Given the description of an element on the screen output the (x, y) to click on. 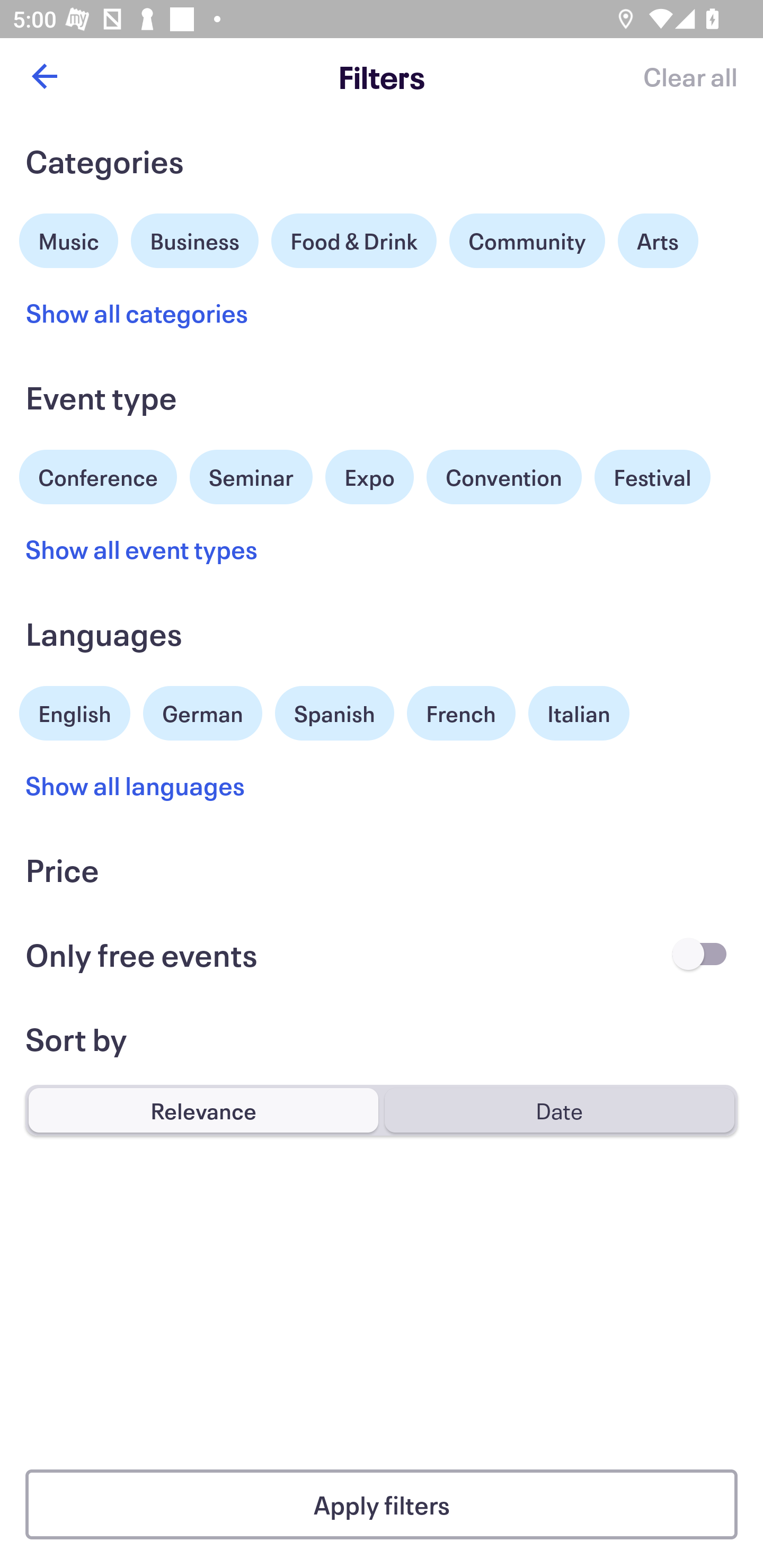
Back button (44, 75)
Clear all (690, 75)
Music (68, 238)
Business (194, 238)
Food & Drink (353, 240)
Community (527, 240)
Arts (658, 240)
Show all categories (136, 312)
Conference (98, 475)
Seminar (250, 477)
Expo (369, 477)
Convention (503, 477)
Festival (652, 477)
Show all event types (141, 548)
English (74, 710)
German (202, 710)
Spanish (334, 713)
French (460, 713)
Italian (578, 713)
Show all languages (135, 784)
Relevance (203, 1109)
Date (559, 1109)
Apply filters (381, 1504)
